Given the description of an element on the screen output the (x, y) to click on. 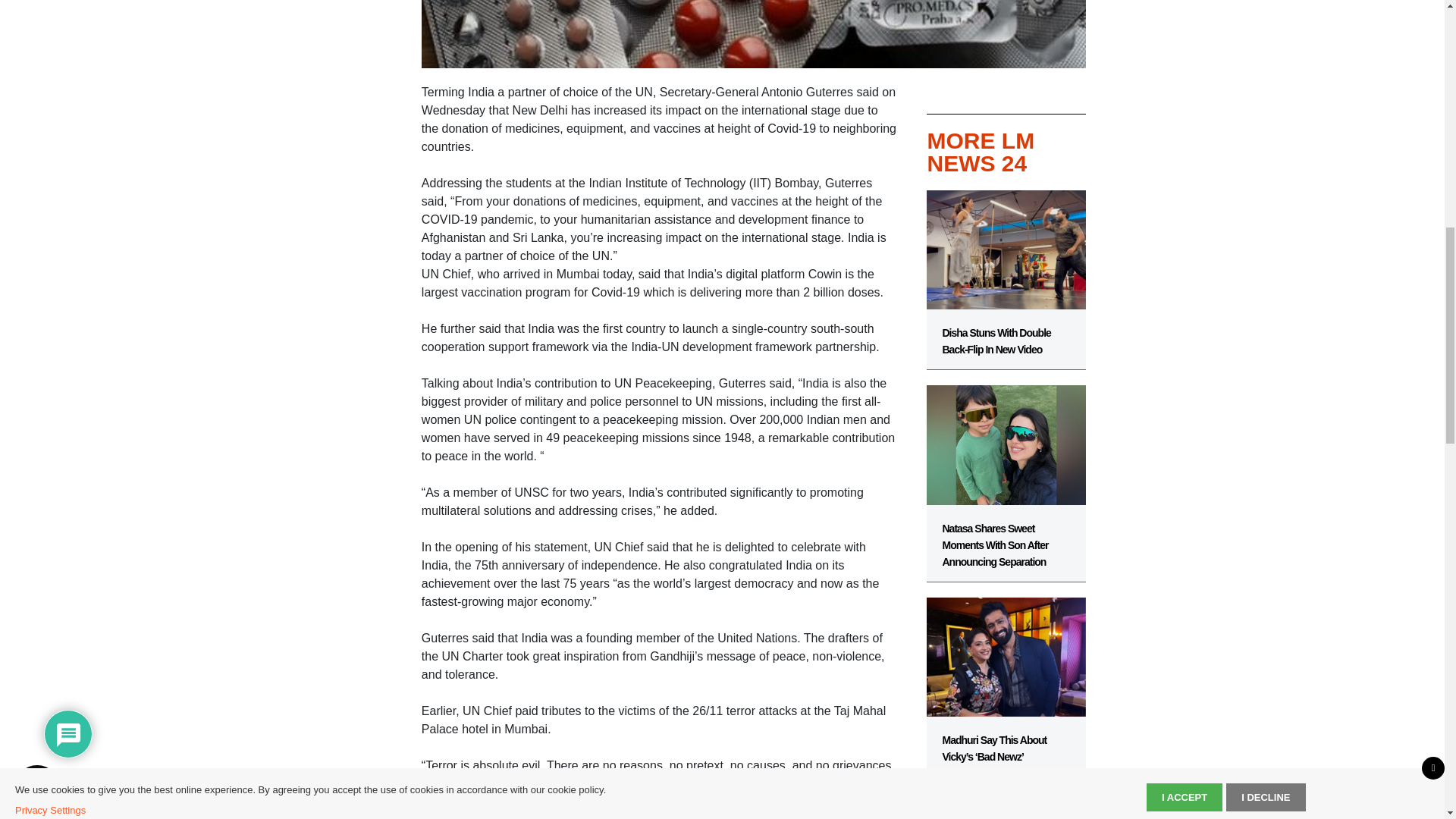
Issue Isolated, Fix Deployed: CEO, CrowdStrike (1006, 798)
